Given the description of an element on the screen output the (x, y) to click on. 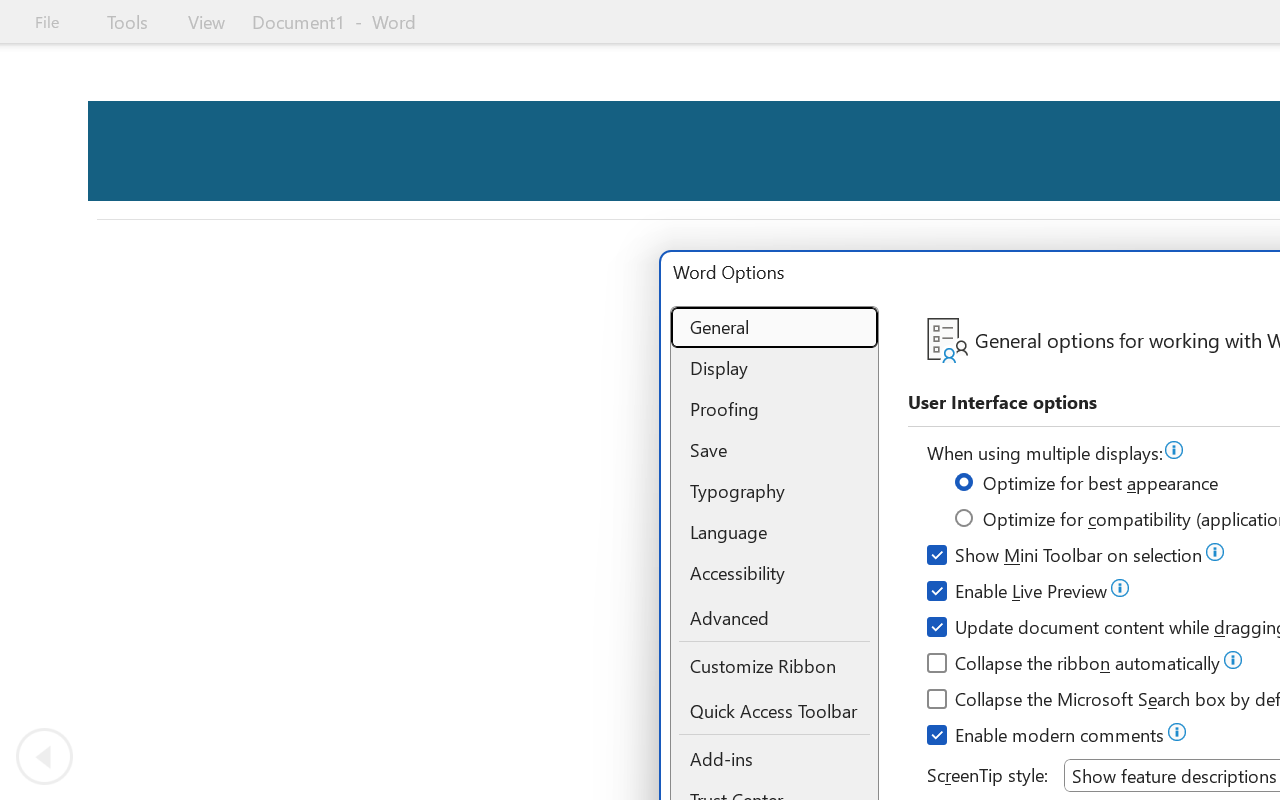
Tools (127, 21)
Customize Ribbon (774, 666)
Proofing (774, 409)
Enable Live Preview (1018, 594)
